Given the description of an element on the screen output the (x, y) to click on. 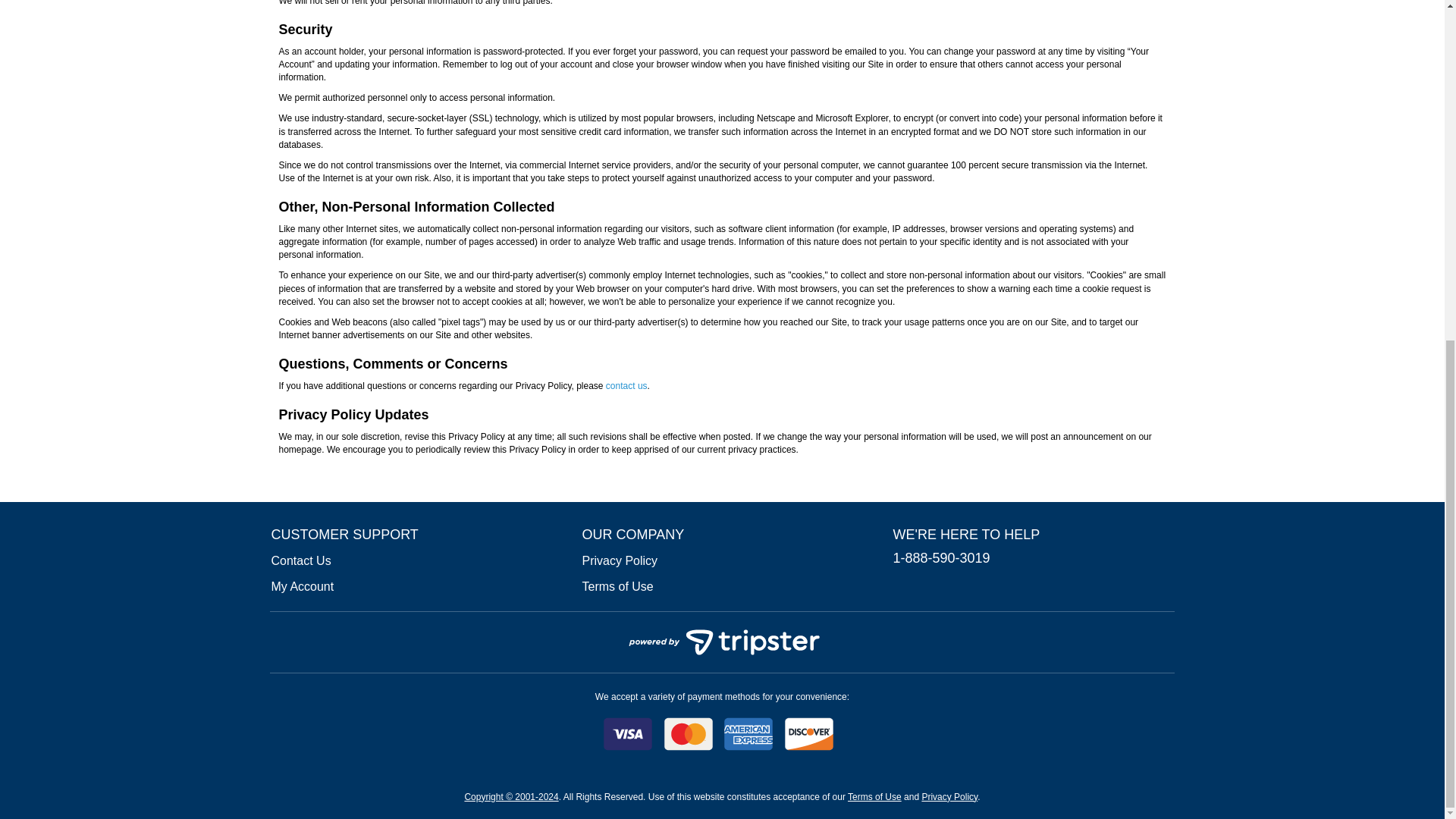
Terms of Use (617, 585)
contact us (626, 385)
My Account (302, 585)
Privacy Policy (620, 560)
Terms of Use (874, 796)
Contact Us (300, 560)
Privacy Policy (948, 796)
